Given the description of an element on the screen output the (x, y) to click on. 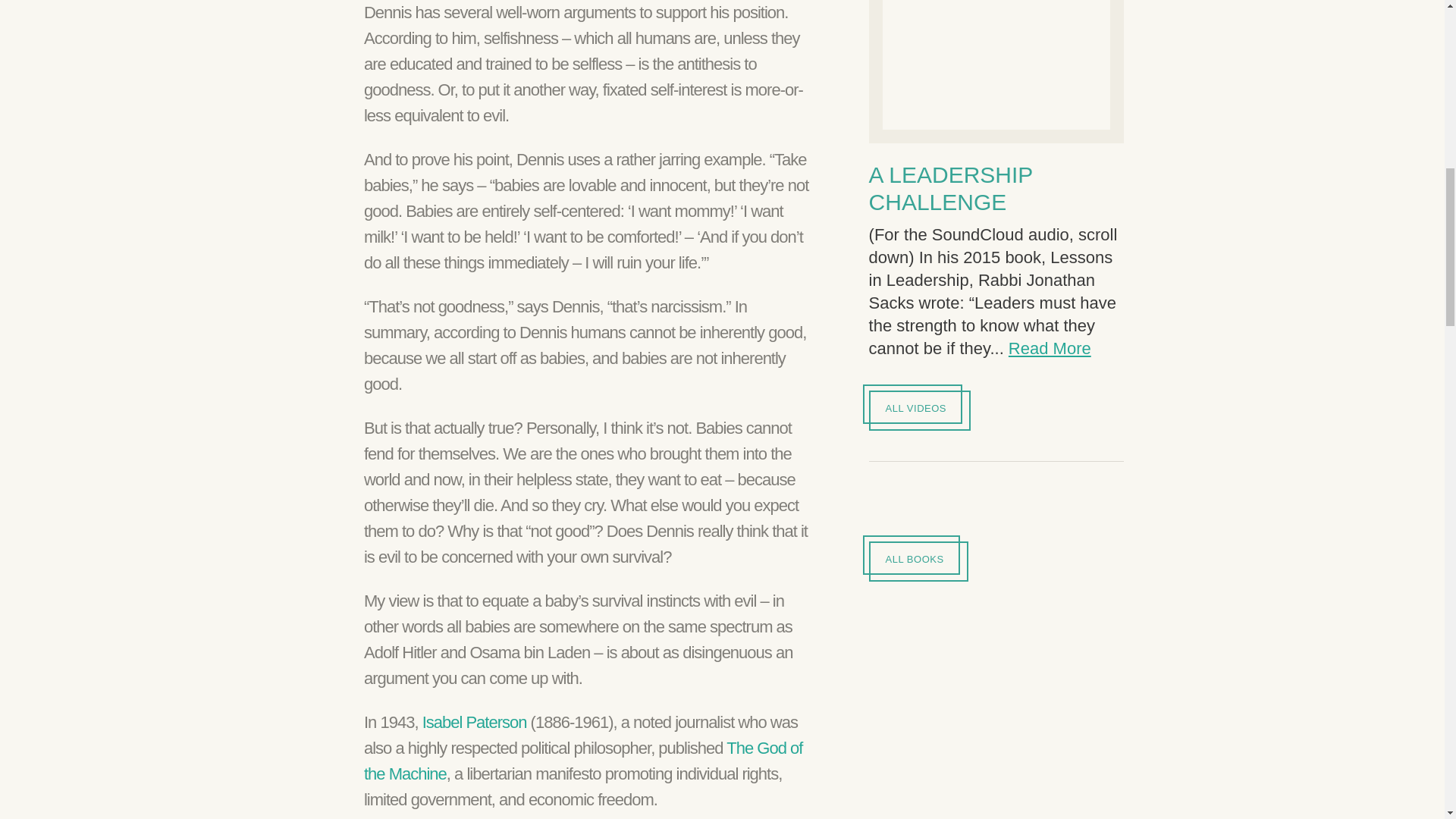
Isabel Paterson (474, 722)
The God of the Machine (583, 760)
